Given the description of an element on the screen output the (x, y) to click on. 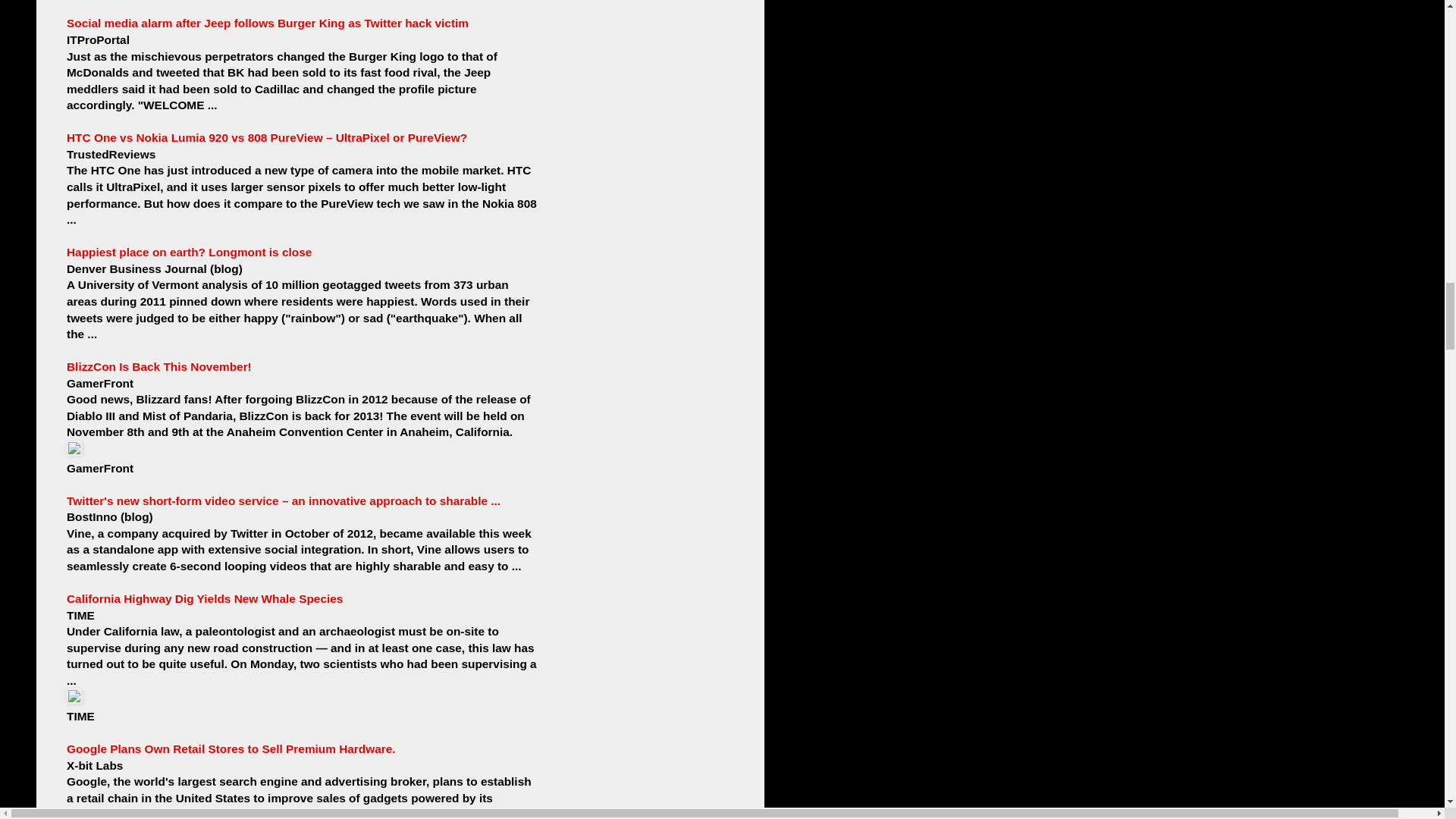
BlizzCon Is Back This November! (158, 366)
Happiest place on earth? Longmont is close (188, 251)
